Given the description of an element on the screen output the (x, y) to click on. 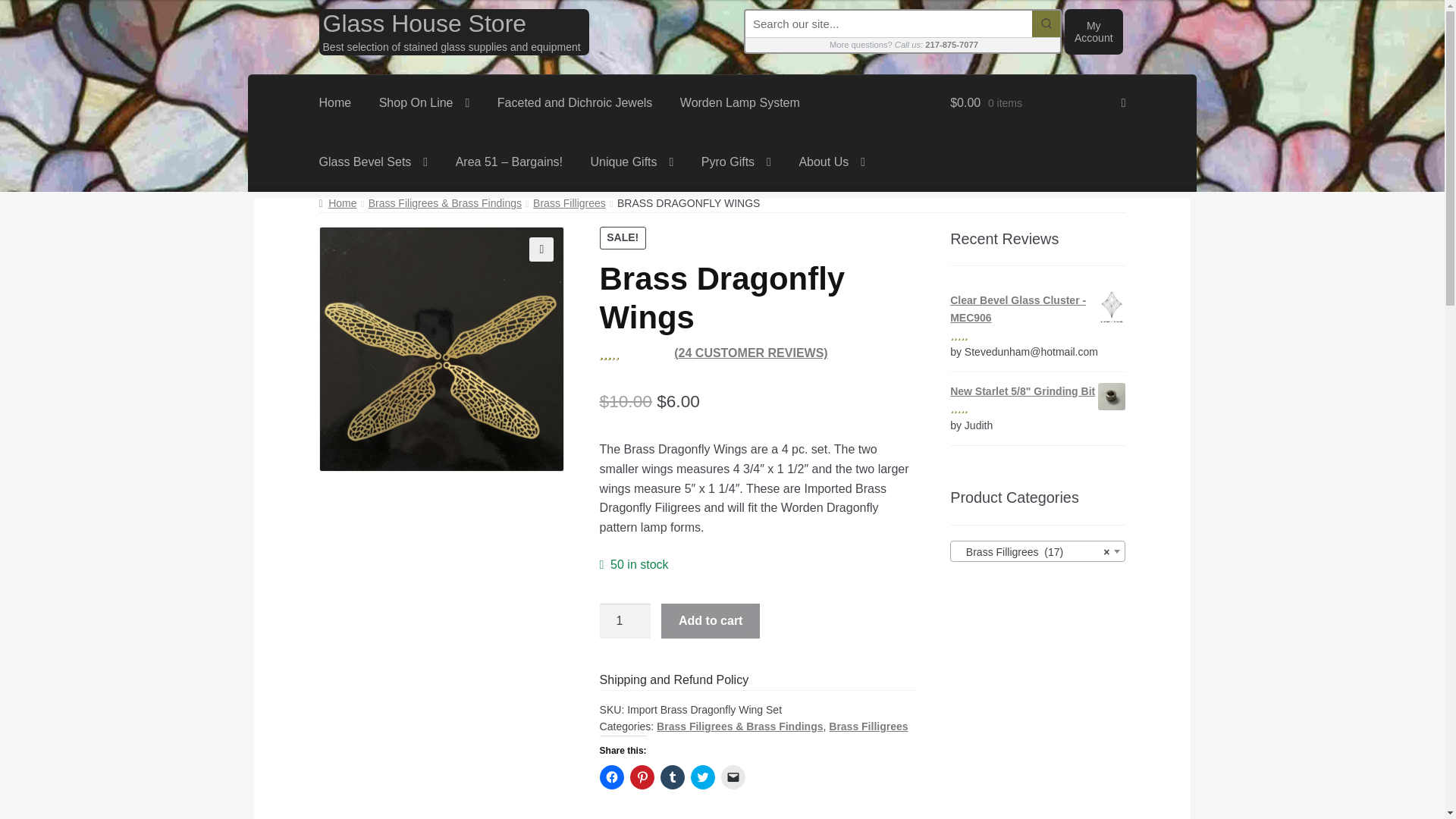
Click to share on Pinterest (641, 776)
Go (1045, 23)
An account allows you to manage settings and orders (1093, 31)
Click to email a link to a friend (732, 776)
Import Dragonfly wings (441, 349)
Click to share on Twitter (702, 776)
Home (335, 103)
Glass House Store (425, 22)
1 (624, 620)
Click to share on Facebook (611, 776)
217-875-7077 (951, 44)
My Account (1093, 31)
Shop On Line (423, 103)
Search our site... (888, 23)
